Given the description of an element on the screen output the (x, y) to click on. 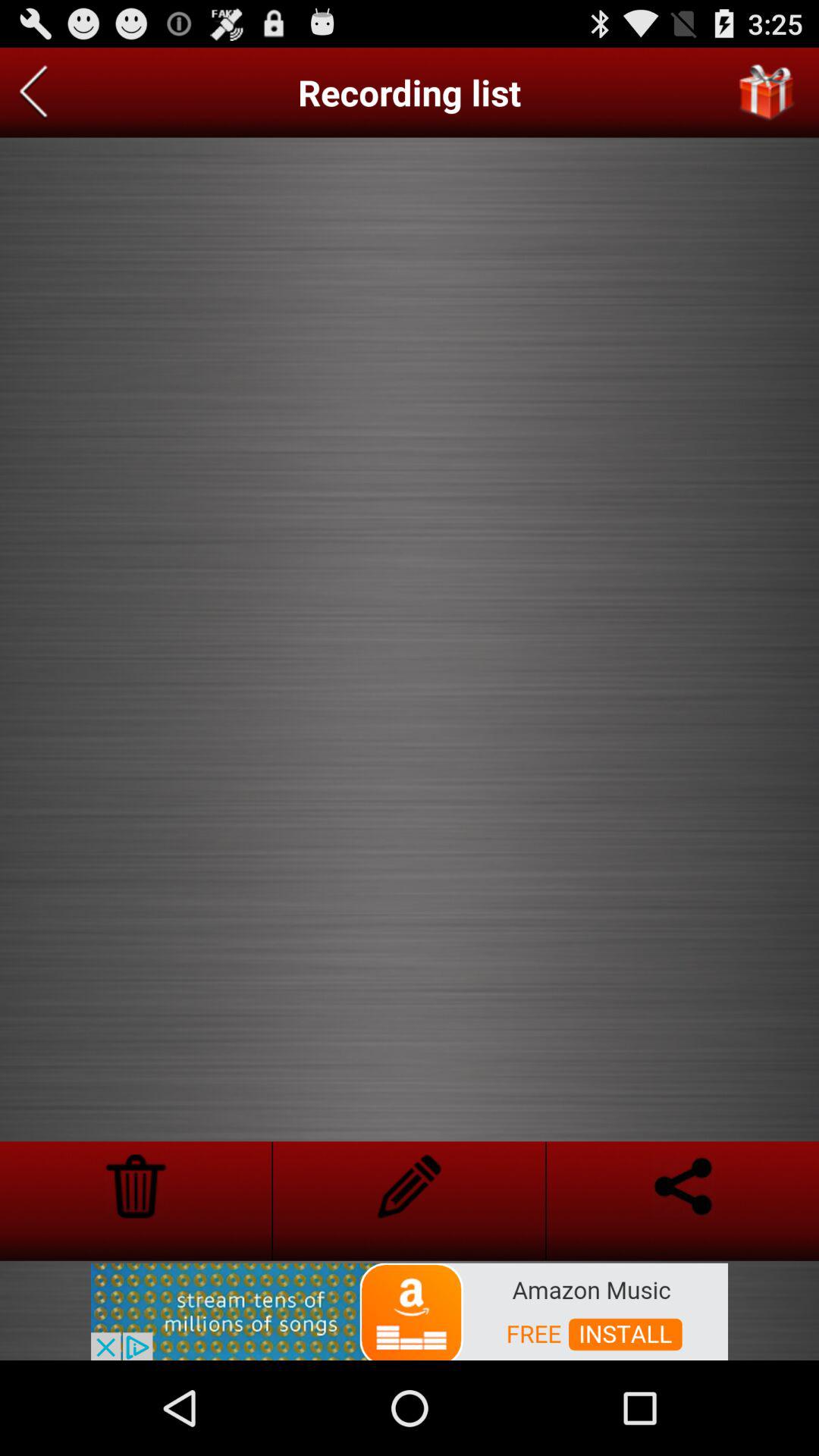
rite page (409, 1186)
